Given the description of an element on the screen output the (x, y) to click on. 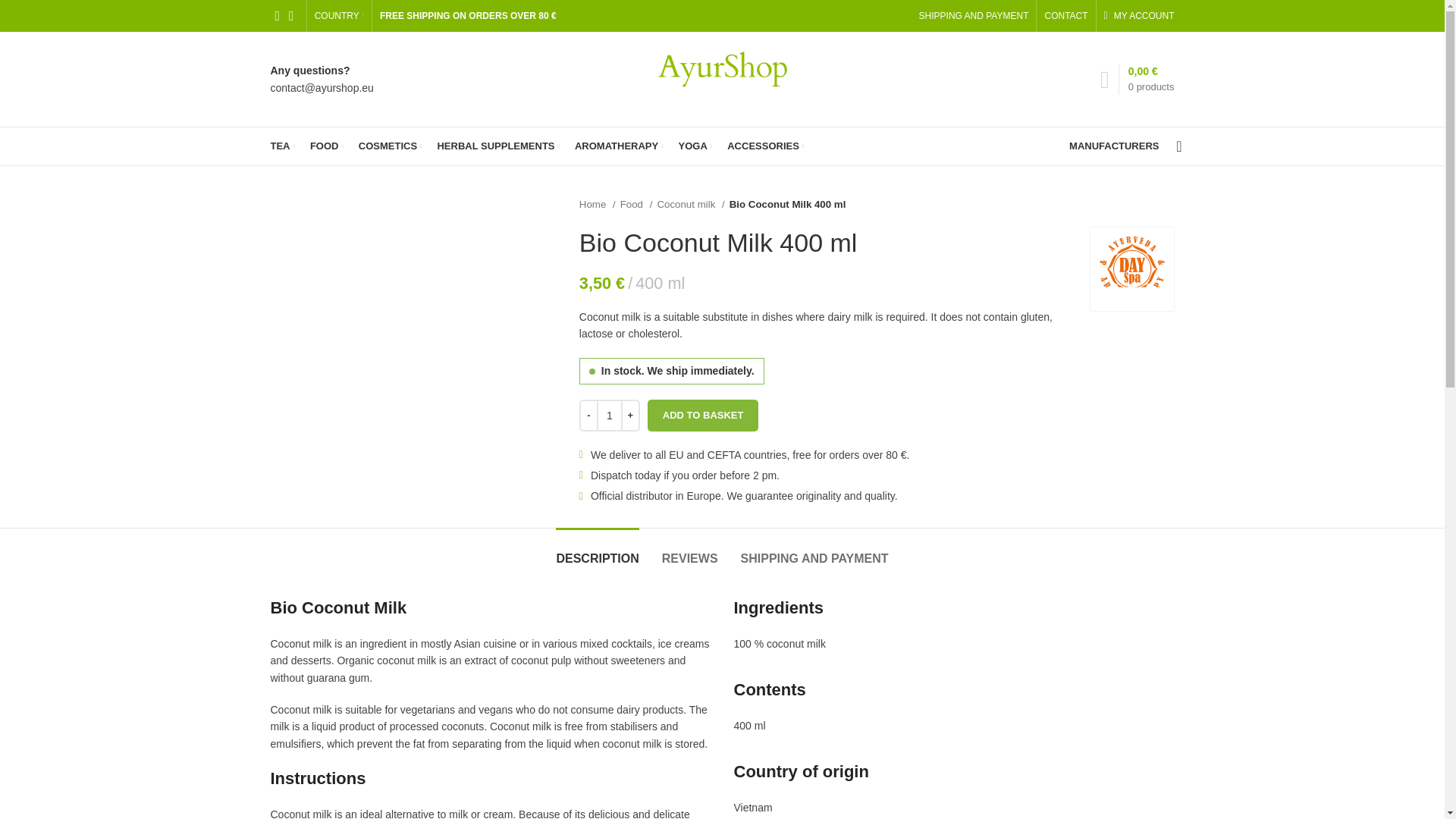
Day Spa (1131, 269)
MY ACCOUNT (1139, 15)
CONTACT (1065, 15)
My account (1139, 15)
Log in (1049, 246)
SHIPPING AND PAYMENT (973, 15)
FOOD (326, 146)
COUNTRY (339, 15)
Shopping cart (1136, 79)
